Given the description of an element on the screen output the (x, y) to click on. 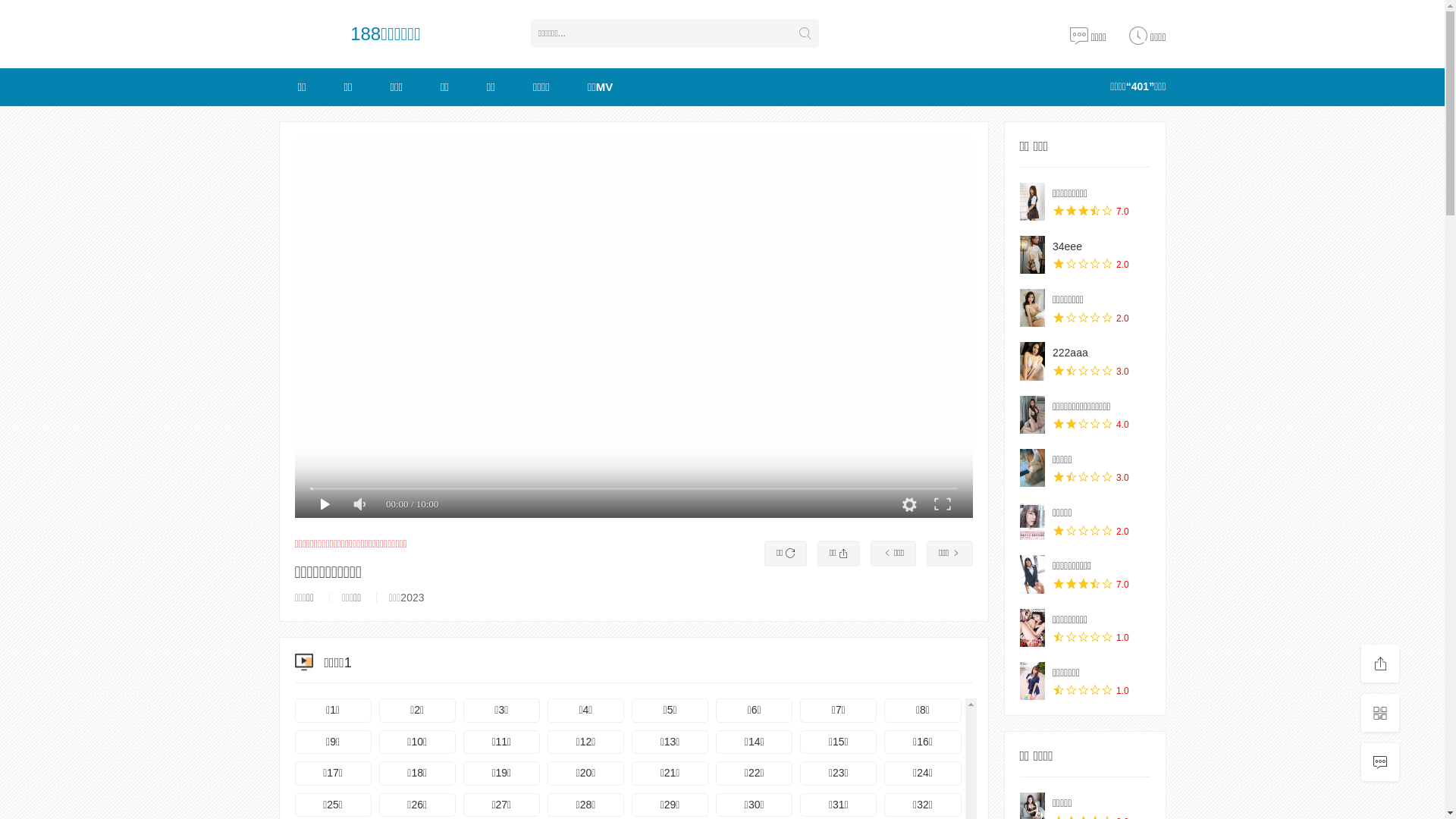
34eee Element type: text (1067, 246)
222aaa Element type: hover (1031, 360)
34eee Element type: hover (1031, 254)
222aaa Element type: text (1070, 352)
